Given the description of an element on the screen output the (x, y) to click on. 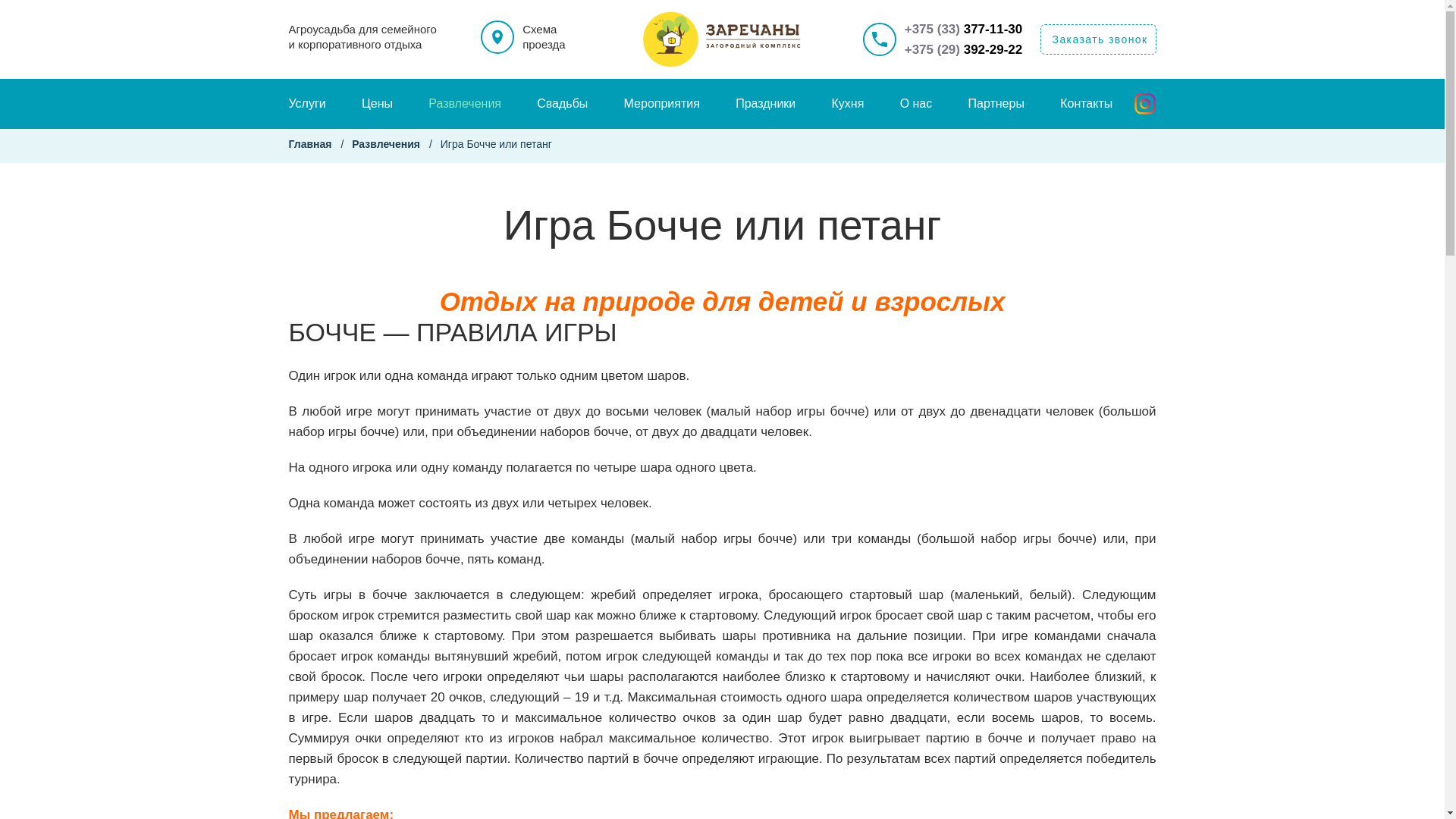
+375 (29) 392-29-22 Element type: text (963, 49)
+375 (33) 377-11-30 Element type: text (963, 28)
zarechany.by Element type: text (722, 39)
